Given the description of an element on the screen output the (x, y) to click on. 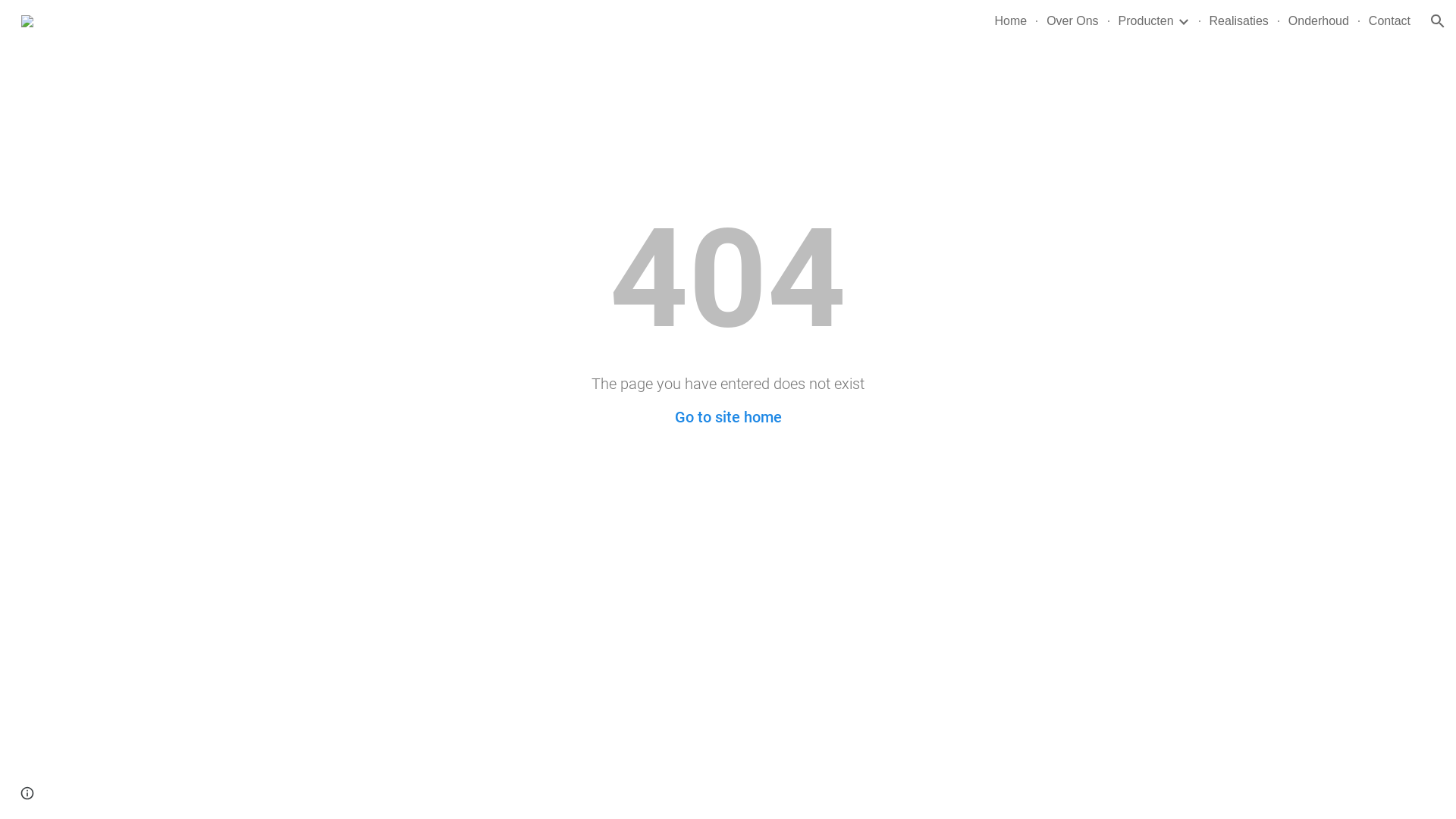
Onderhoud Element type: text (1318, 21)
Go to site home Element type: text (727, 416)
Expand/Collapse Element type: hover (1182, 21)
Producten Element type: text (1145, 21)
Home Element type: text (1010, 21)
Contact Element type: text (1389, 21)
Realisaties Element type: text (1238, 21)
Over Ons Element type: text (1072, 21)
